Given the description of an element on the screen output the (x, y) to click on. 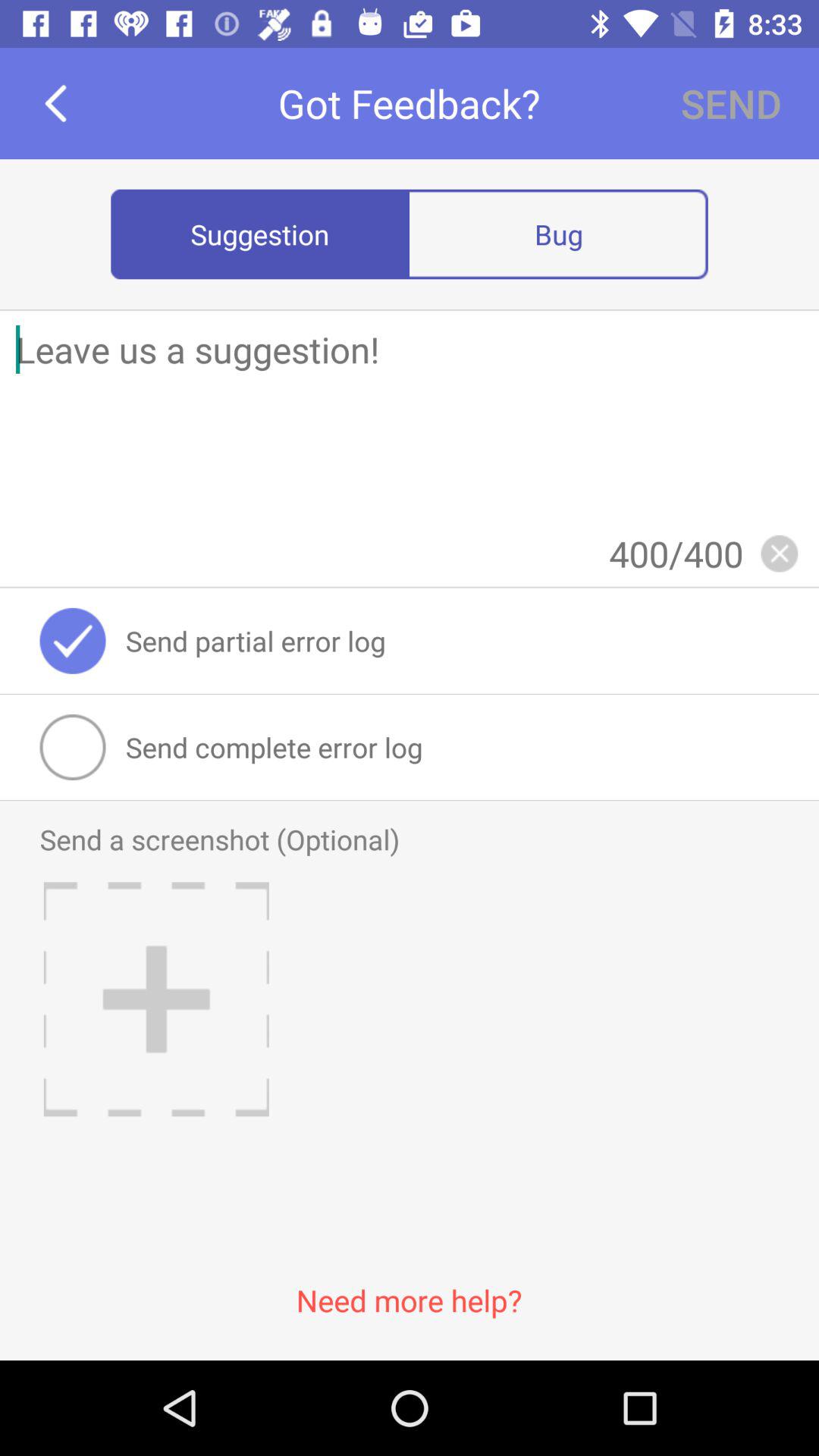
press app above the send partial error icon (779, 553)
